Given the description of an element on the screen output the (x, y) to click on. 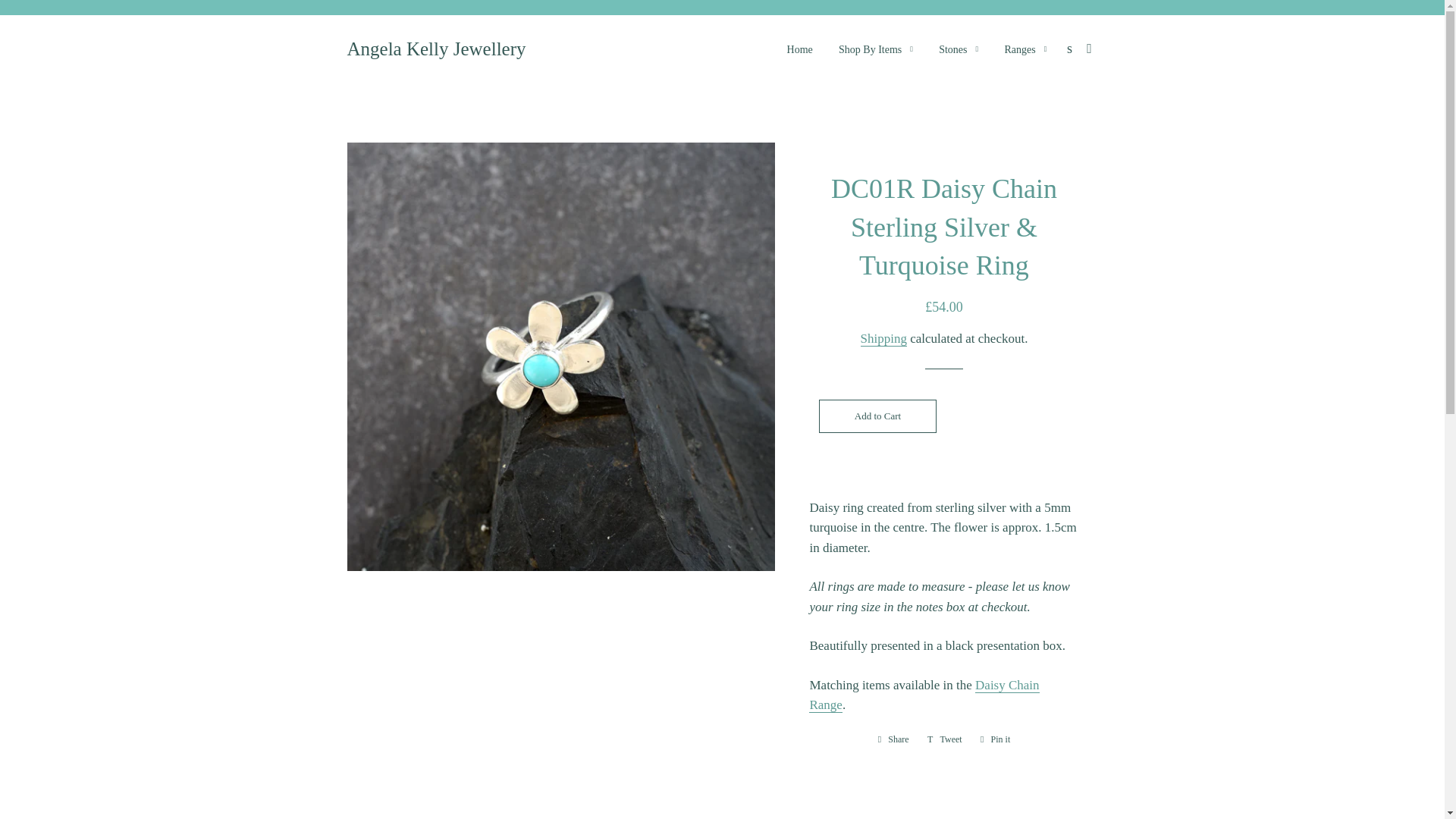
Tweet on Twitter (944, 739)
Share on Facebook (893, 739)
Pin on Pinterest (994, 739)
